Given the description of an element on the screen output the (x, y) to click on. 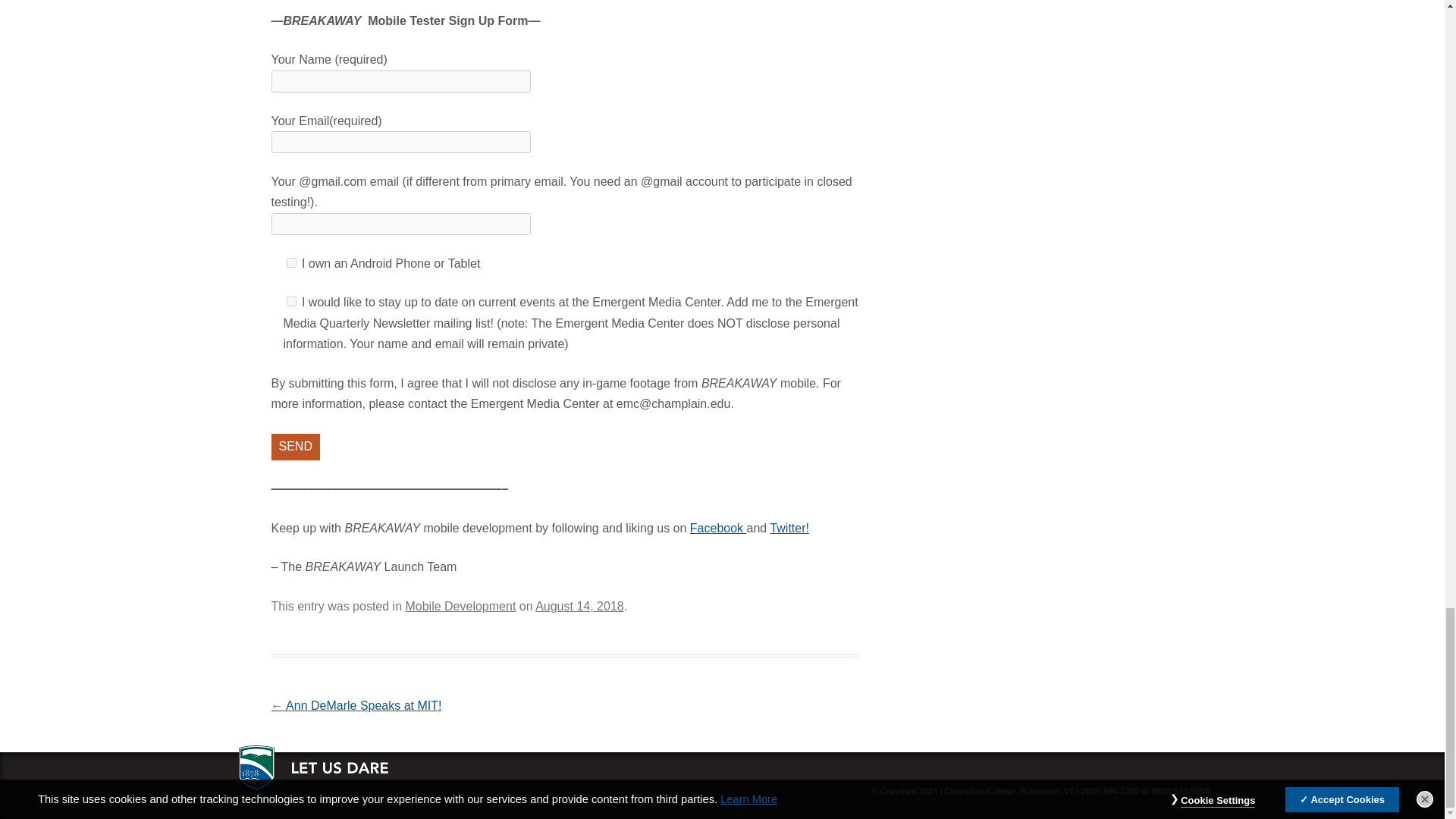
Send (295, 447)
Send (295, 447)
I own an Android Phone or Tablet (291, 262)
